Given the description of an element on the screen output the (x, y) to click on. 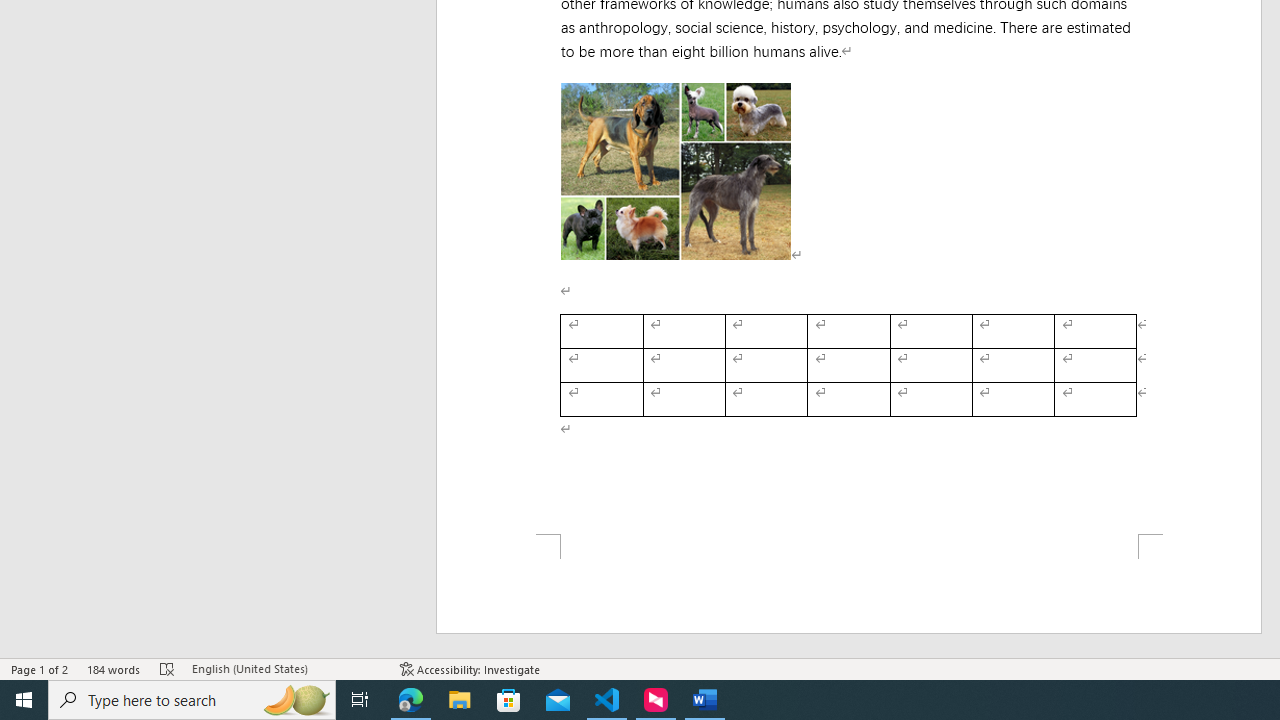
Language English (United States) (286, 668)
Spelling and Grammar Check Errors (168, 668)
Word Count 184 words (113, 668)
Microsoft Store (509, 699)
Page Number Page 1 of 2 (39, 668)
Microsoft Edge - 1 running window (411, 699)
Task View (359, 699)
Start (24, 699)
File Explorer (460, 699)
Visual Studio Code - 1 running window (607, 699)
Word - 1 running window (704, 699)
Accessibility Checker Accessibility: Investigate (470, 668)
